Given the description of an element on the screen output the (x, y) to click on. 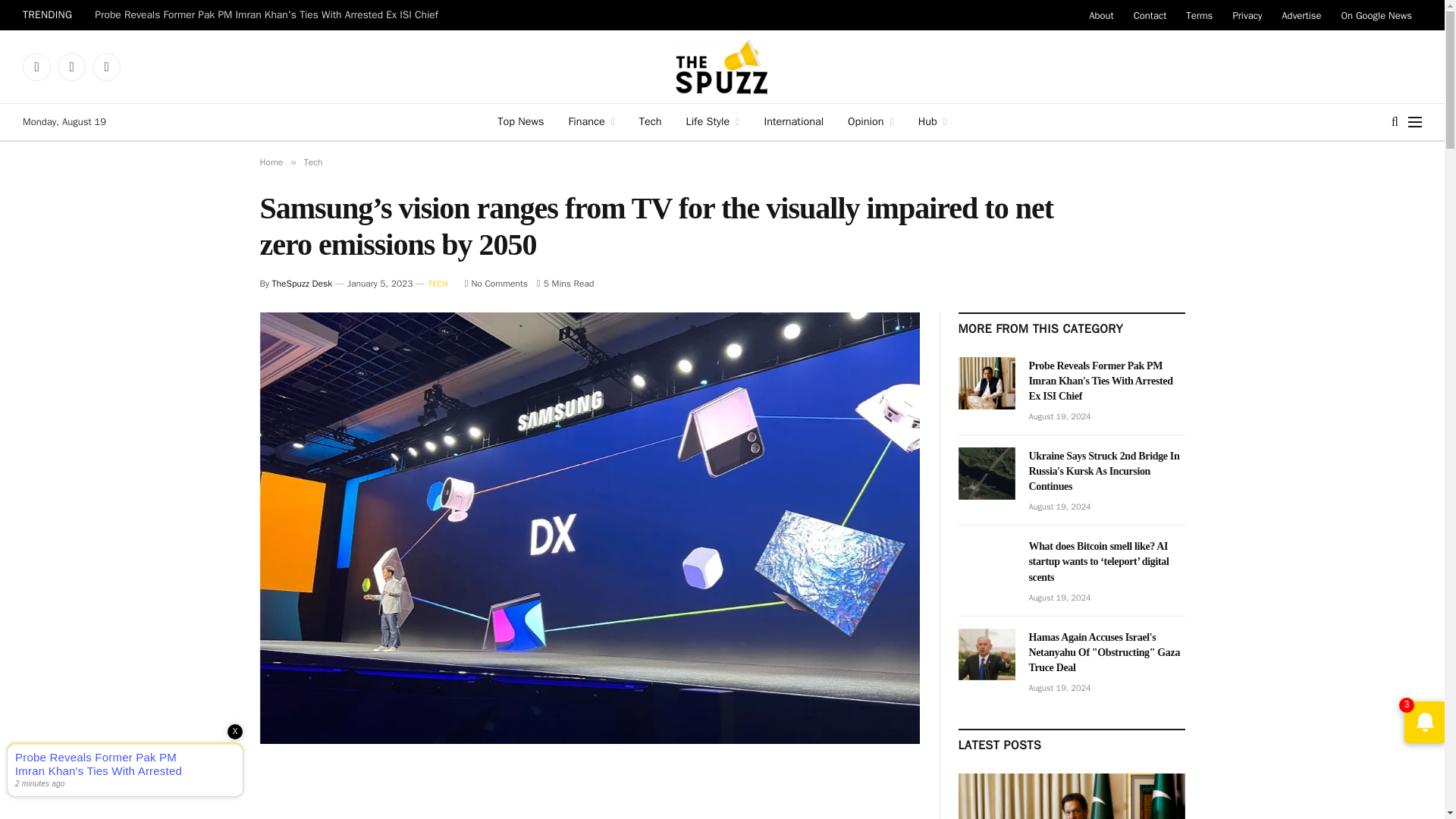
Pinterest (106, 67)
Advertise (1300, 15)
Top News (520, 122)
On Google News (1377, 15)
Facebook (36, 67)
Finance (591, 122)
Privacy (1247, 15)
Terms (1199, 15)
Contact (1150, 15)
